Given the description of an element on the screen output the (x, y) to click on. 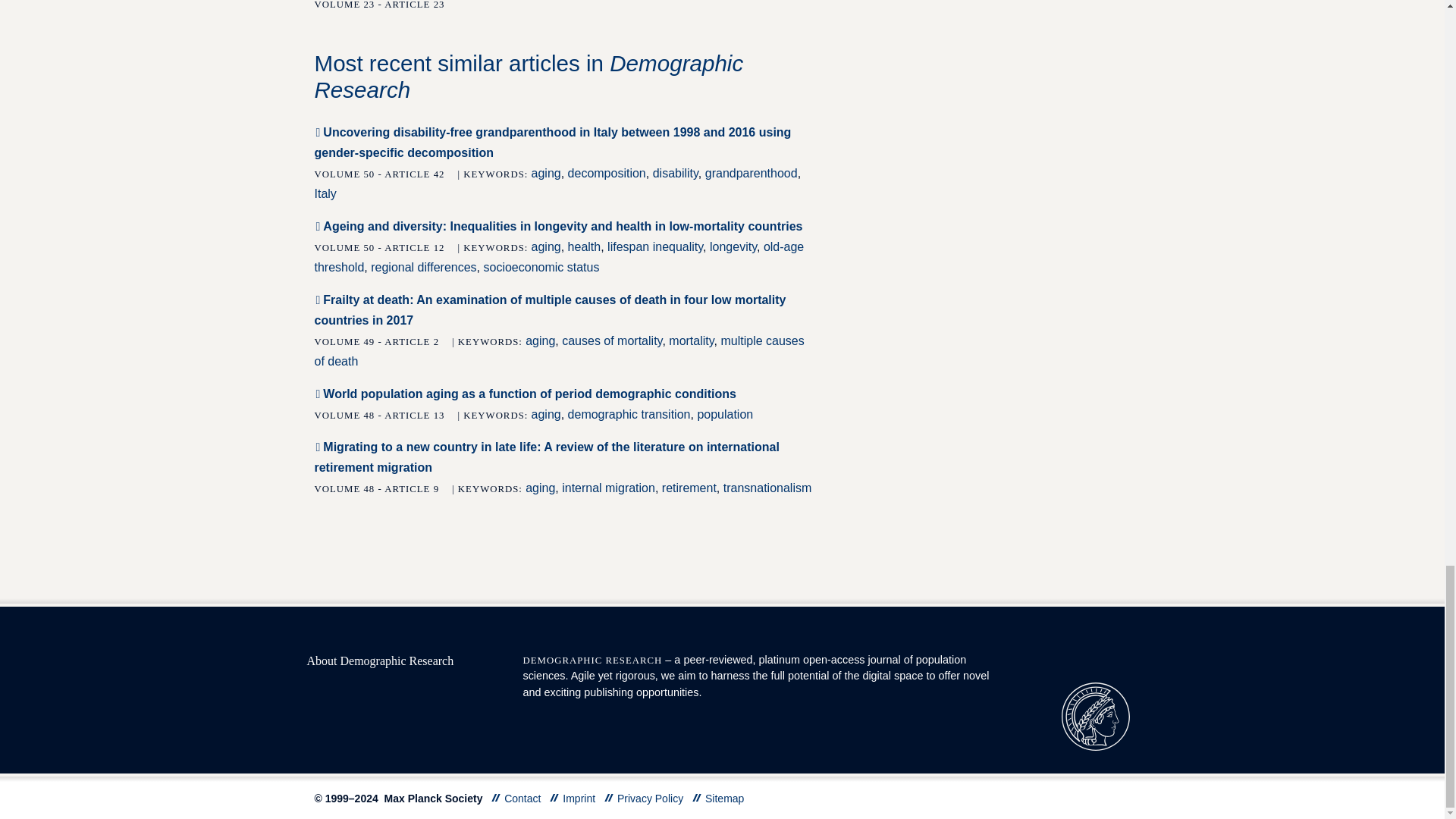
separator (697, 797)
Max Planck Society (1095, 716)
separator (496, 797)
separator (608, 797)
separator (554, 797)
Max Planck Society (1095, 715)
